Given the description of an element on the screen output the (x, y) to click on. 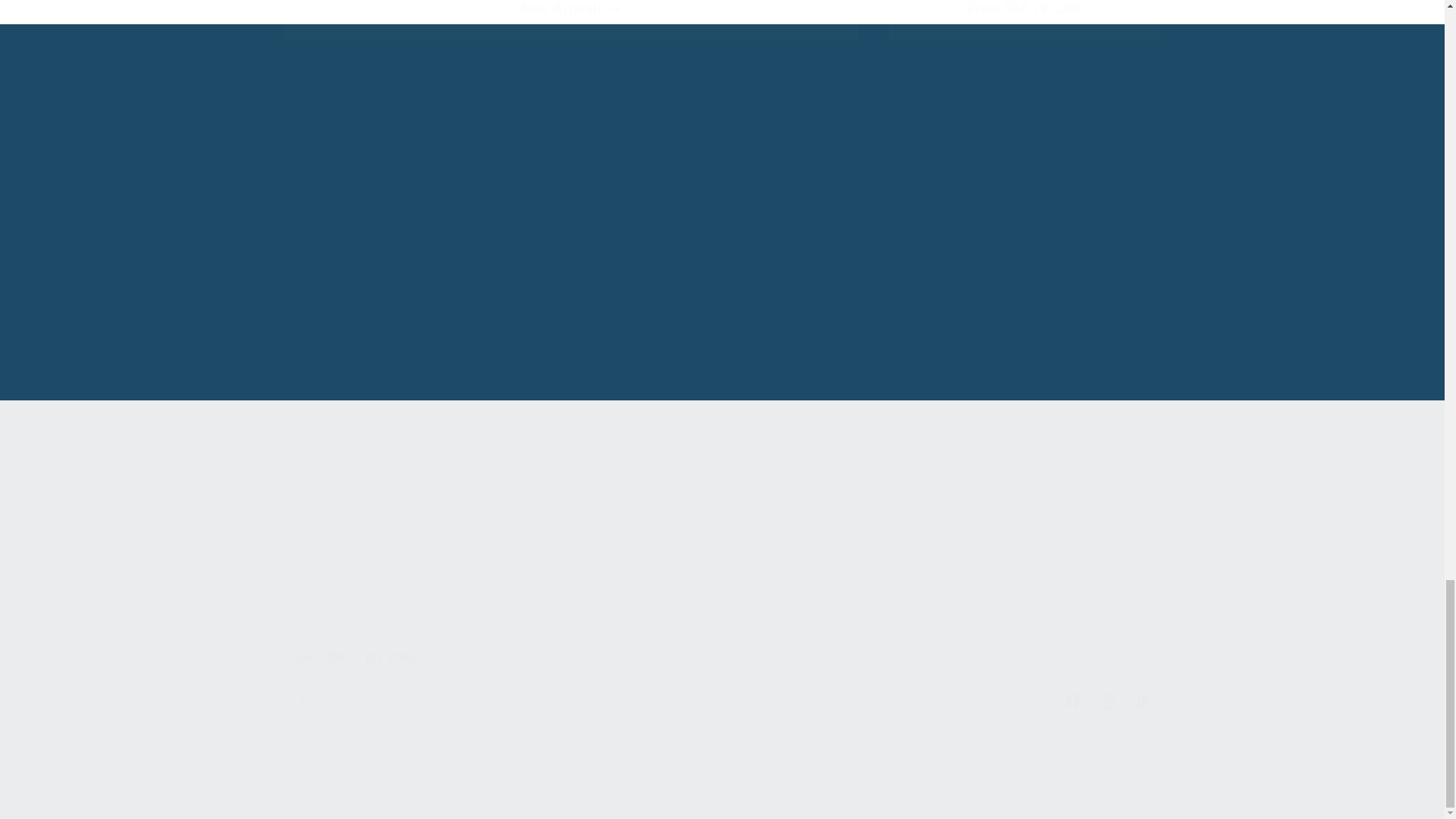
New Arrivals (721, 683)
